Given the description of an element on the screen output the (x, y) to click on. 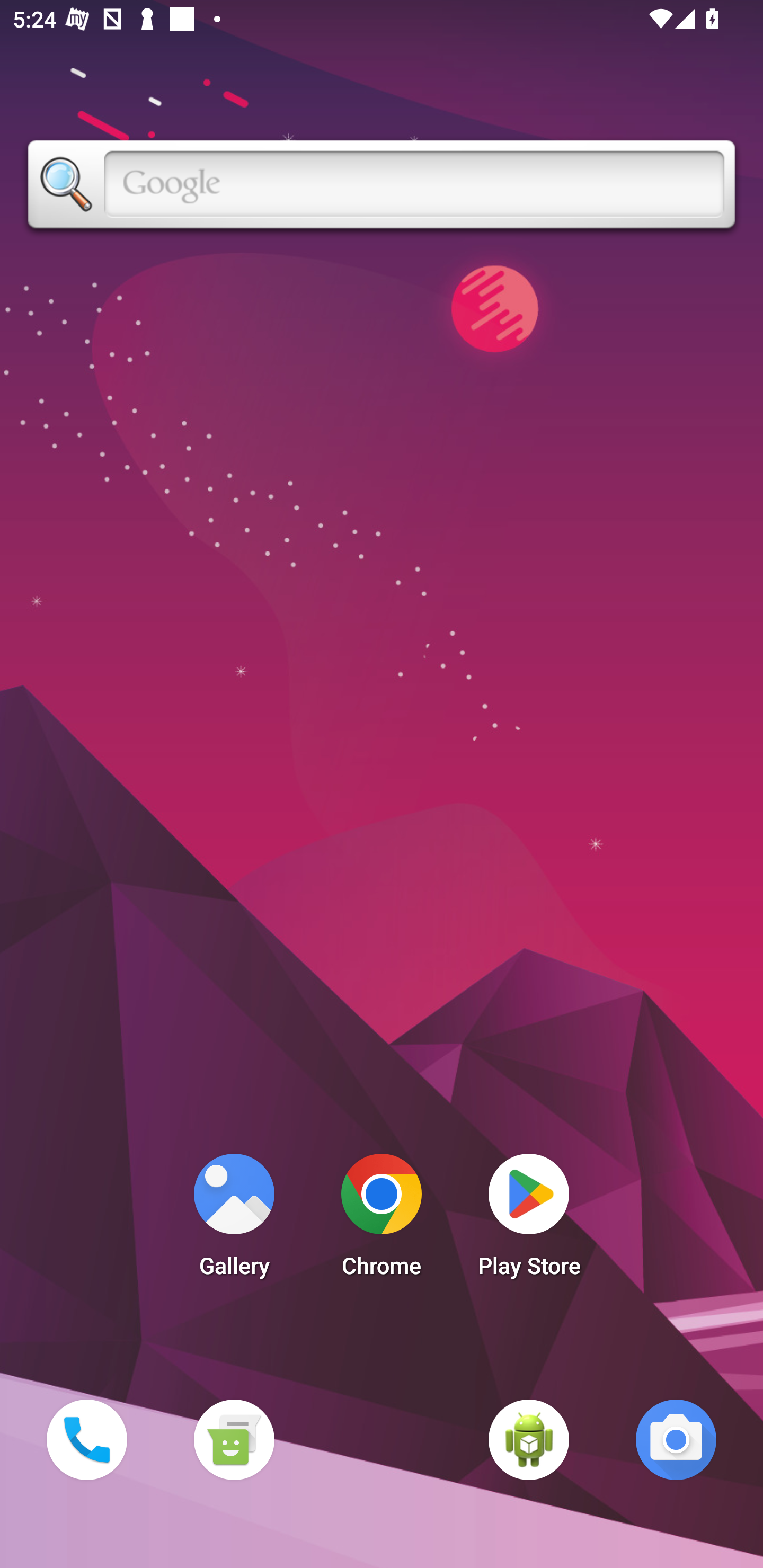
Gallery (233, 1220)
Chrome (381, 1220)
Play Store (528, 1220)
Phone (86, 1439)
Messaging (233, 1439)
WebView Browser Tester (528, 1439)
Camera (676, 1439)
